Given the description of an element on the screen output the (x, y) to click on. 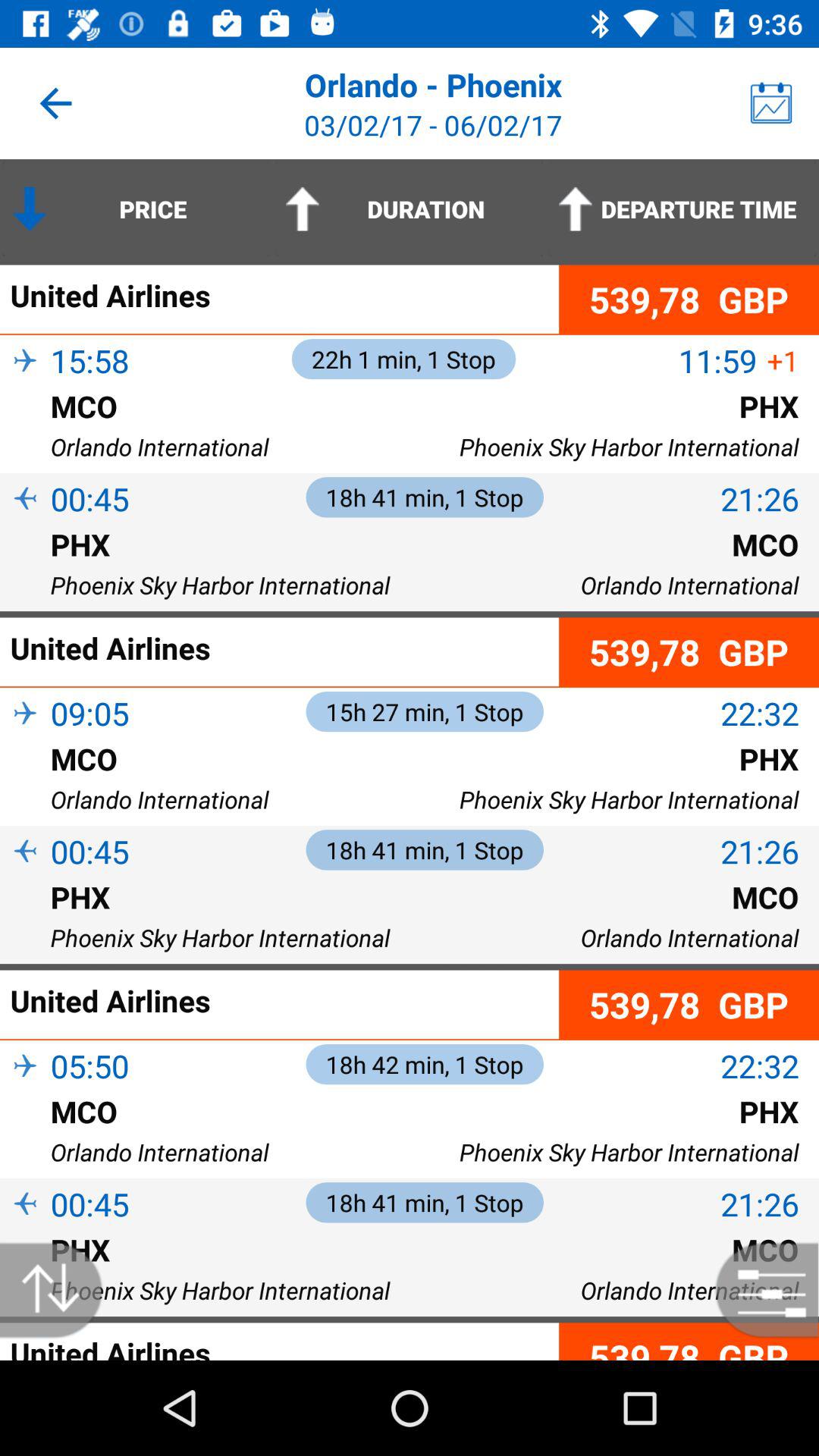
swipe until the 15h 27 min item (424, 711)
